Given the description of an element on the screen output the (x, y) to click on. 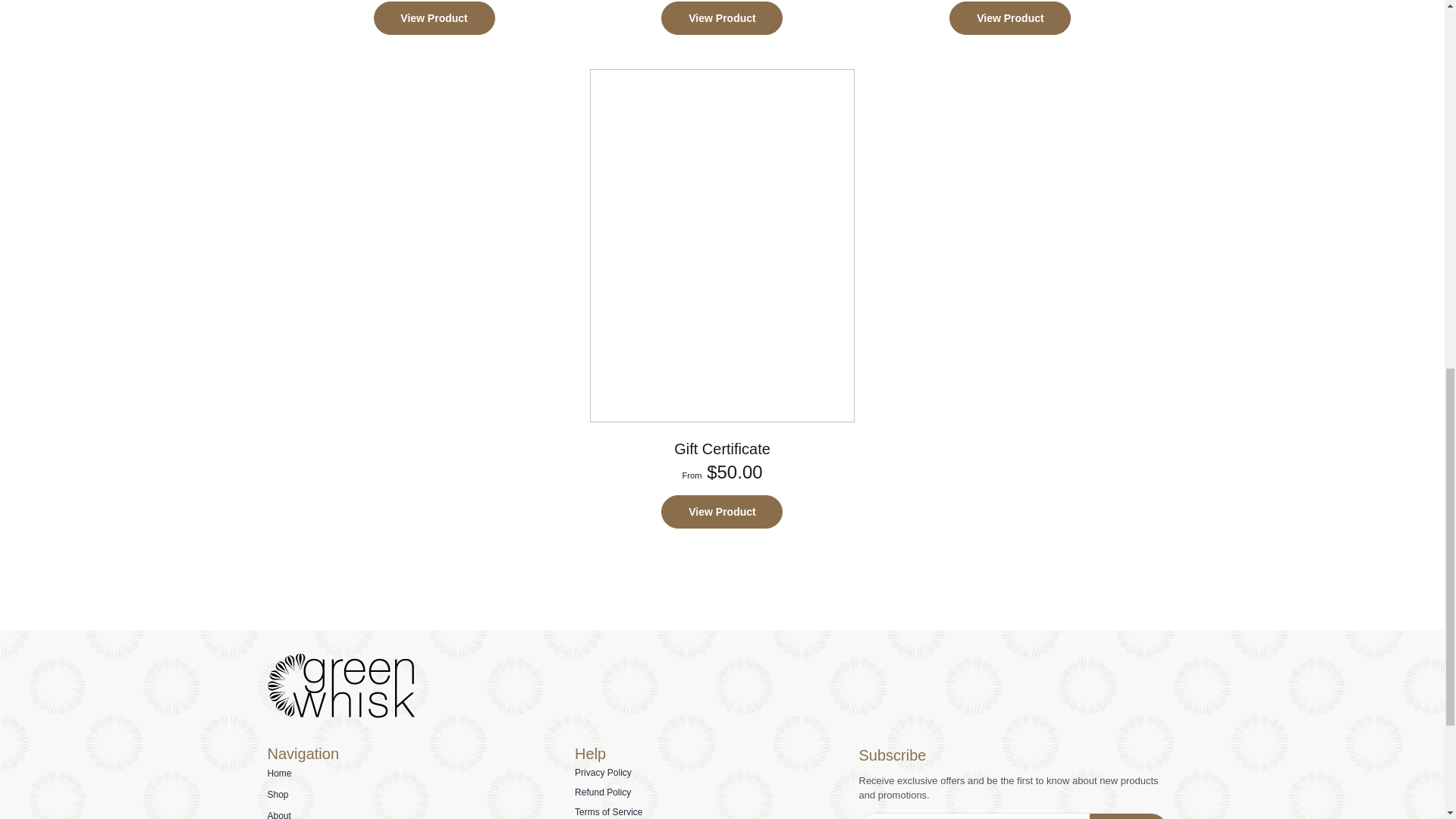
Green Whisk (339, 714)
View Product (722, 22)
View Product (434, 22)
View Product (1009, 22)
